Given the description of an element on the screen output the (x, y) to click on. 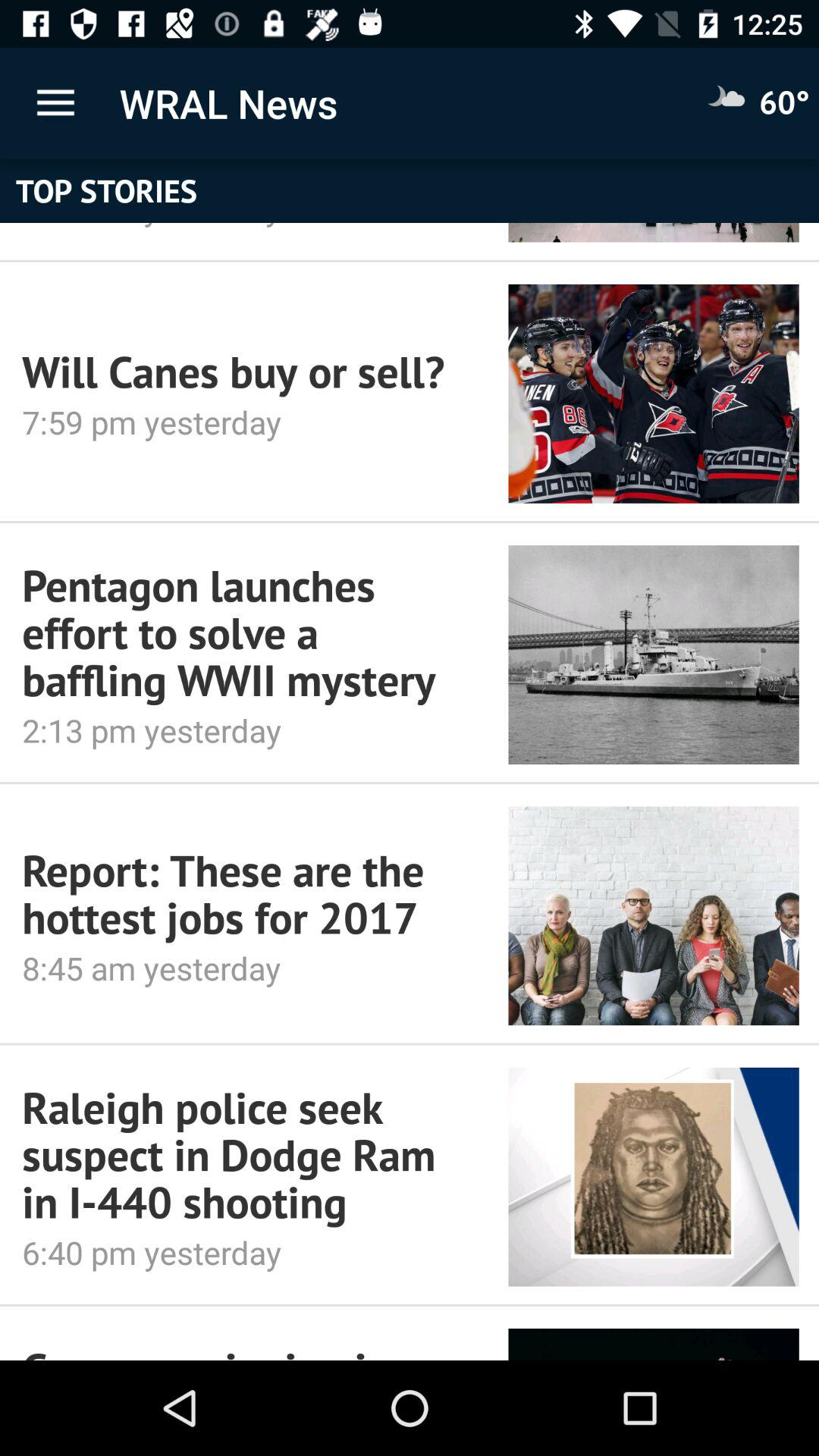
swipe until the 2 13 pm icon (244, 729)
